Given the description of an element on the screen output the (x, y) to click on. 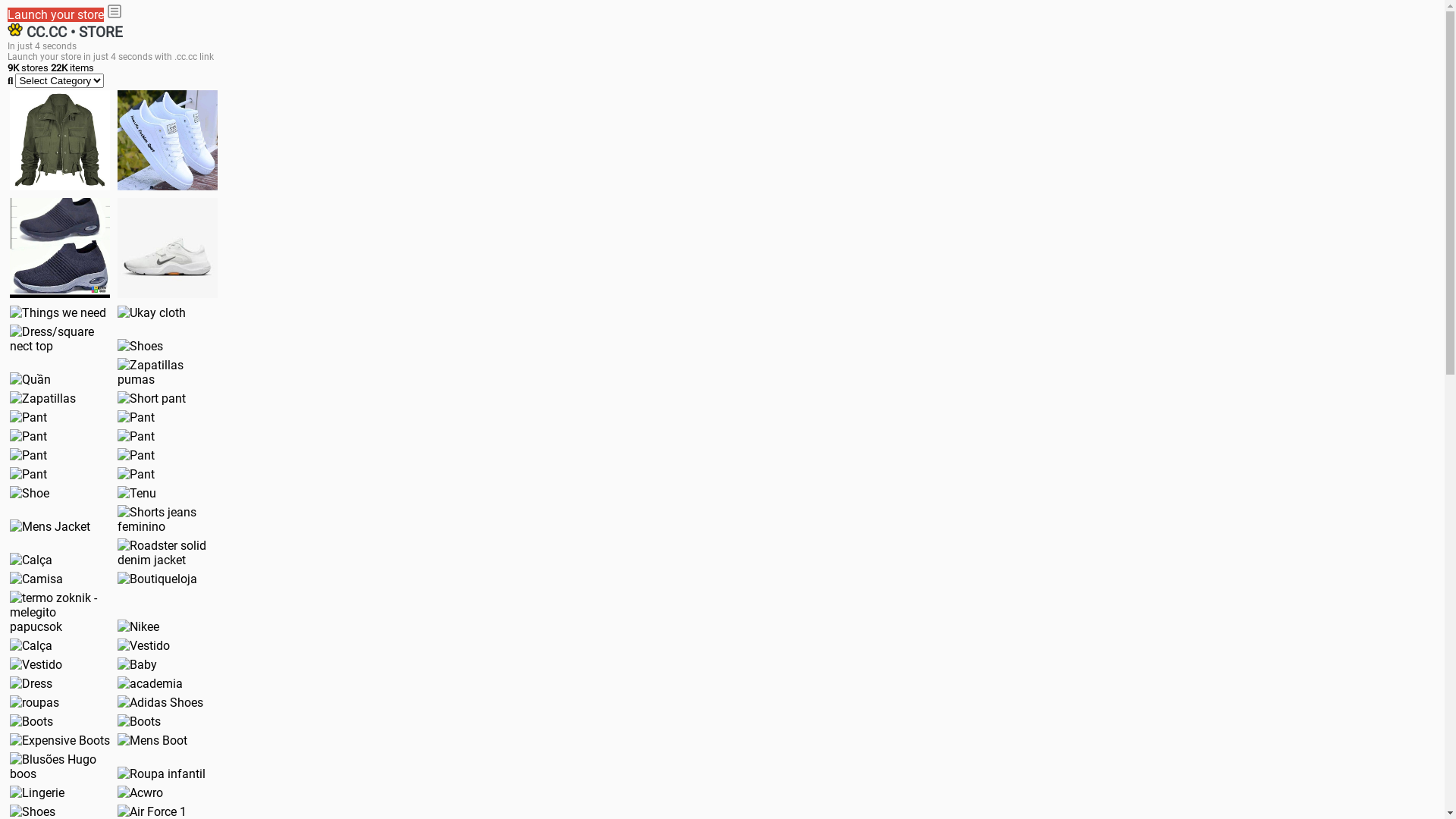
Pant Element type: hover (135, 417)
Vestido Element type: hover (143, 645)
Mens Jacket Element type: hover (49, 526)
roupas Element type: hover (34, 702)
Pant Element type: hover (28, 455)
Acwro Element type: hover (140, 792)
Vestido Element type: hover (35, 664)
shoes for boys Element type: hover (59, 247)
Camisa Element type: hover (35, 578)
Expensive Boots Element type: hover (59, 740)
Shoes for boys Element type: hover (167, 247)
Ukay cloth Element type: hover (151, 312)
Boutiqueloja Element type: hover (157, 578)
Lingerie Element type: hover (36, 792)
Pant Element type: hover (28, 474)
Dress/square nect top Element type: hover (59, 338)
white shoes Element type: hover (167, 140)
Roadster solid denim jacket Element type: hover (167, 552)
Dress Element type: hover (30, 683)
Launch your store Element type: text (55, 14)
Pant Element type: hover (135, 474)
Things we need Element type: hover (57, 312)
Shoes Element type: hover (140, 345)
Zapatillas pumas Element type: hover (167, 371)
Roupa infantil Element type: hover (161, 773)
Pant Element type: hover (28, 436)
Adidas Shoes Element type: hover (160, 702)
Boots Element type: hover (31, 721)
Nikee Element type: hover (138, 626)
Pant Element type: hover (135, 455)
termo zoknik - melegito papucsok Element type: hover (59, 611)
Baby Element type: hover (136, 664)
Tenu Element type: hover (136, 493)
Zapatillas Element type: hover (42, 398)
Shoe Element type: hover (29, 493)
Pant Element type: hover (135, 436)
Pant Element type: hover (28, 417)
Short pant Element type: hover (151, 398)
academia Element type: hover (149, 683)
Shorts jeans feminino Element type: hover (167, 519)
Boots Element type: hover (138, 721)
jacket Element type: hover (59, 140)
Mens Boot Element type: hover (152, 740)
